Given the description of an element on the screen output the (x, y) to click on. 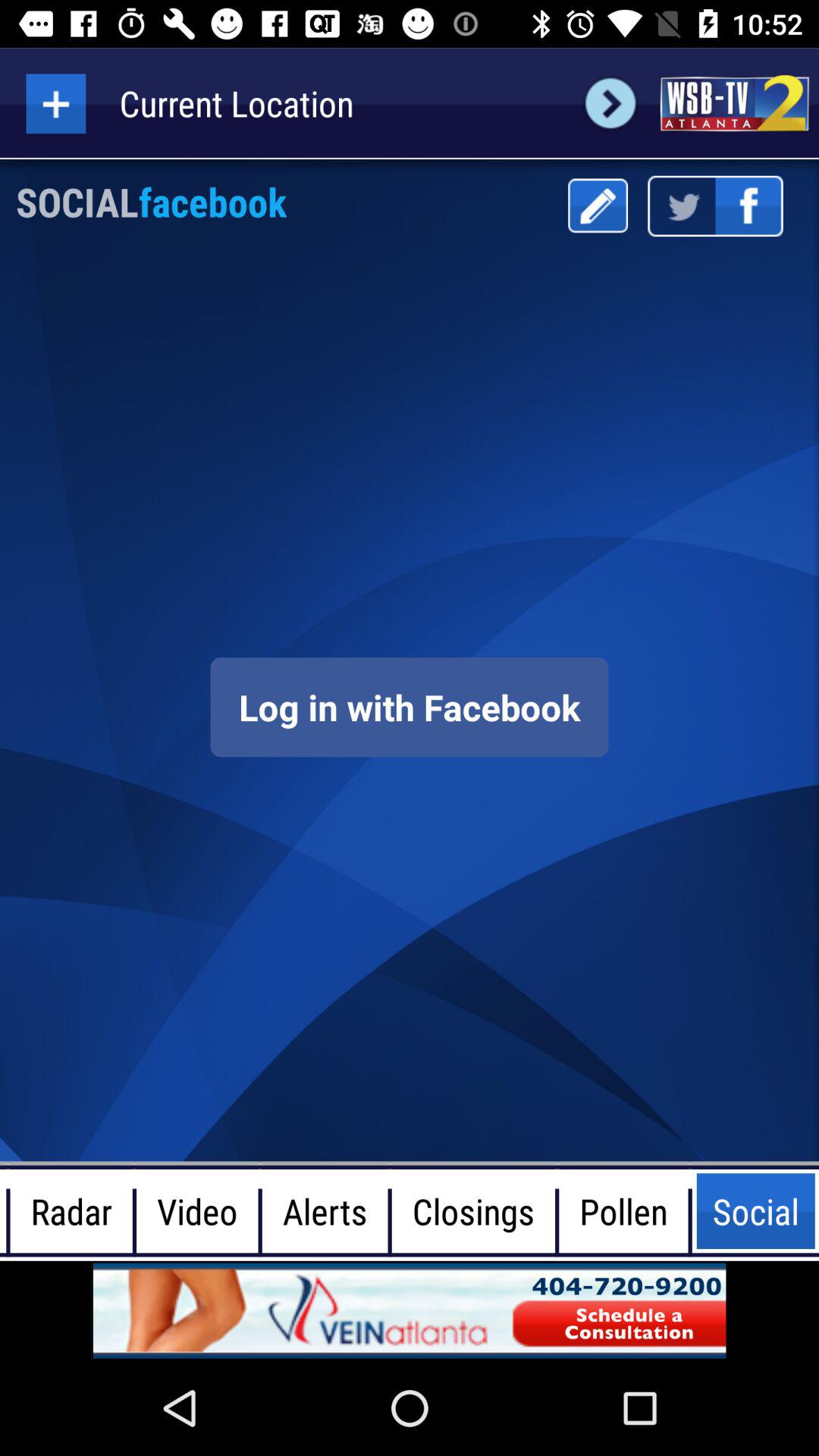
add a location (55, 103)
